Given the description of an element on the screen output the (x, y) to click on. 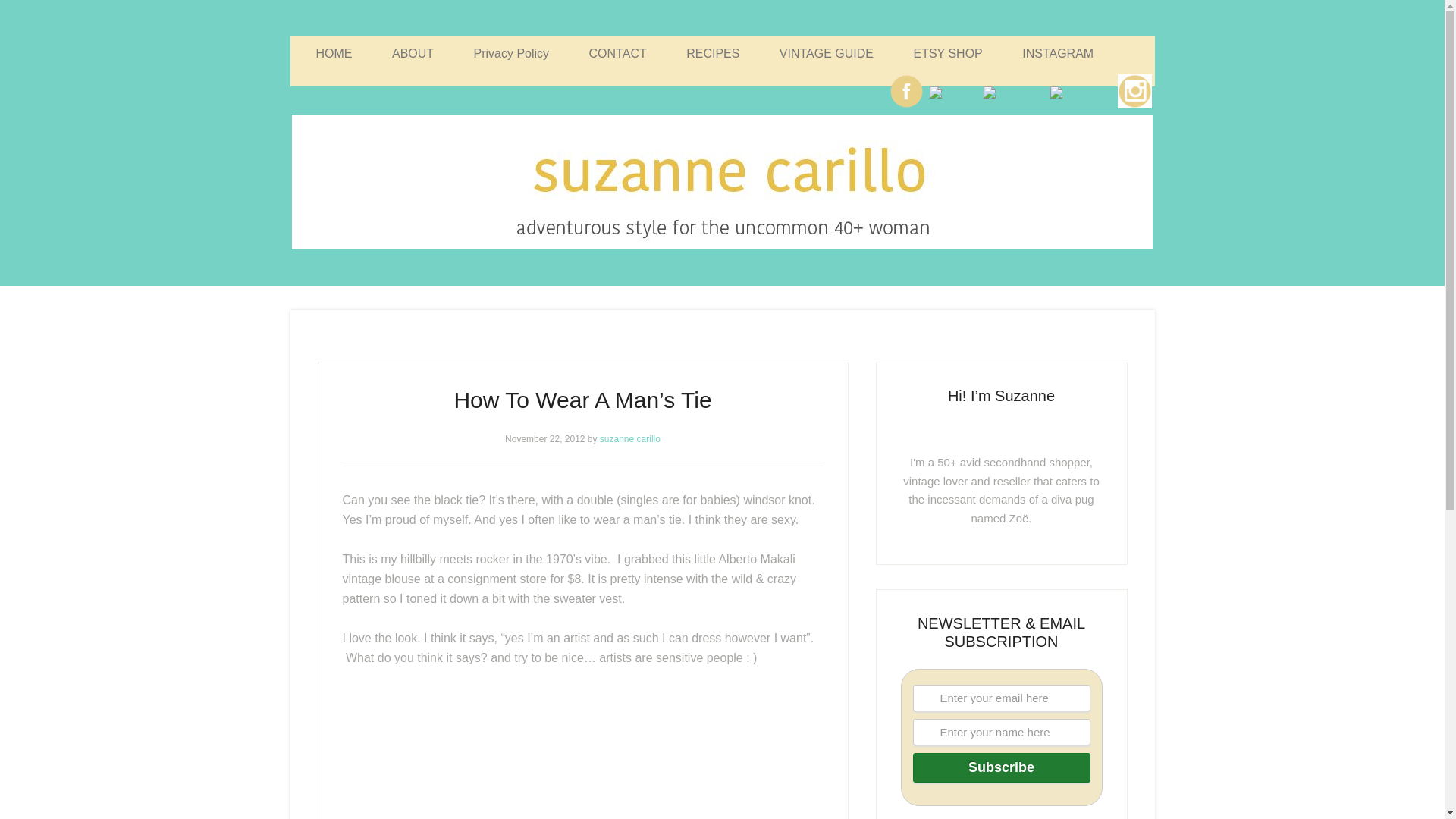
INSTAGRAM (1057, 53)
Facebook (906, 91)
Enter your email here (1001, 697)
Facebook (906, 106)
Twitter (952, 92)
HOME (332, 53)
Privacy Policy (511, 53)
RECIPES (712, 53)
